Given the description of an element on the screen output the (x, y) to click on. 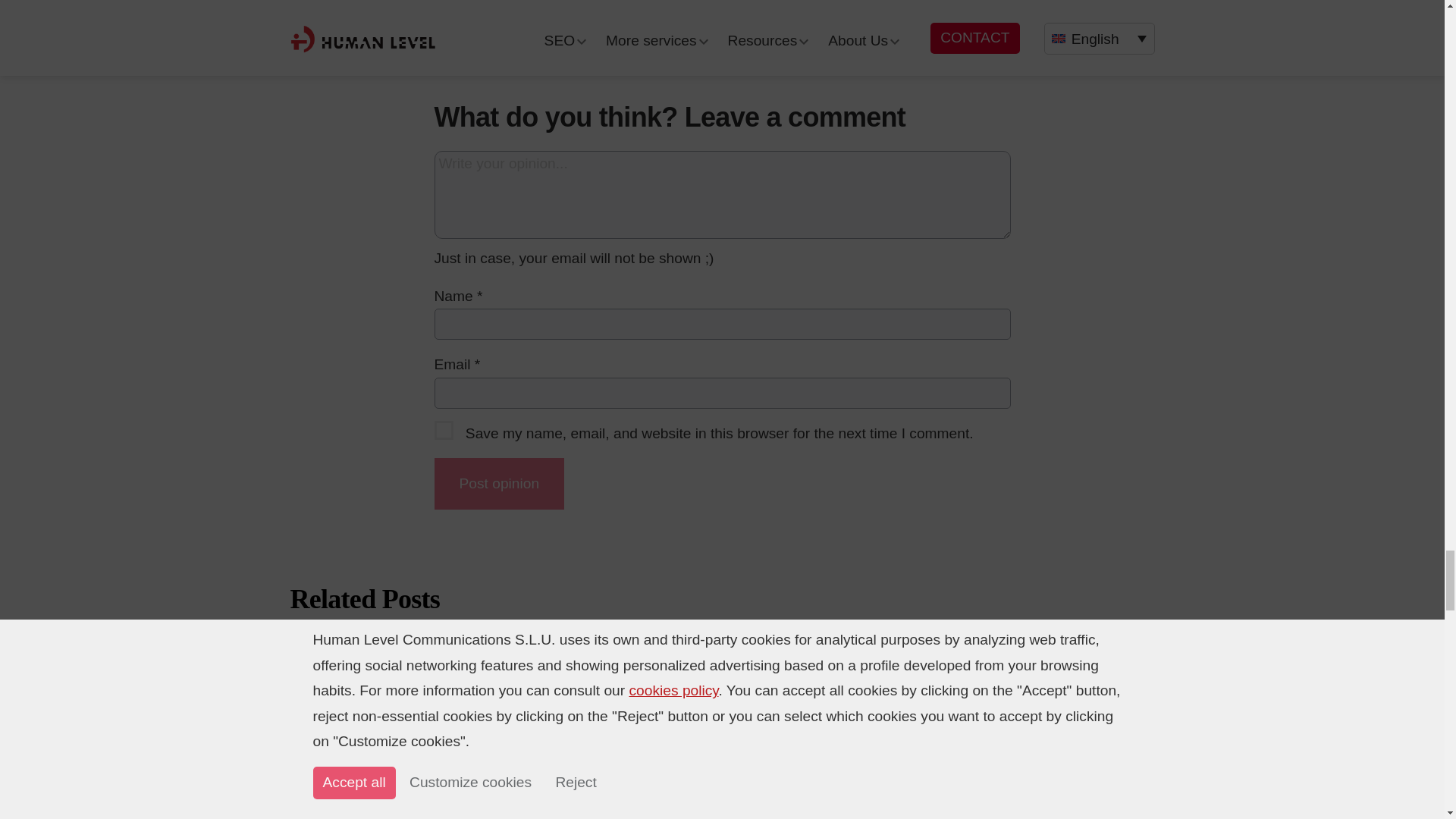
Post opinion (498, 483)
